Given the description of an element on the screen output the (x, y) to click on. 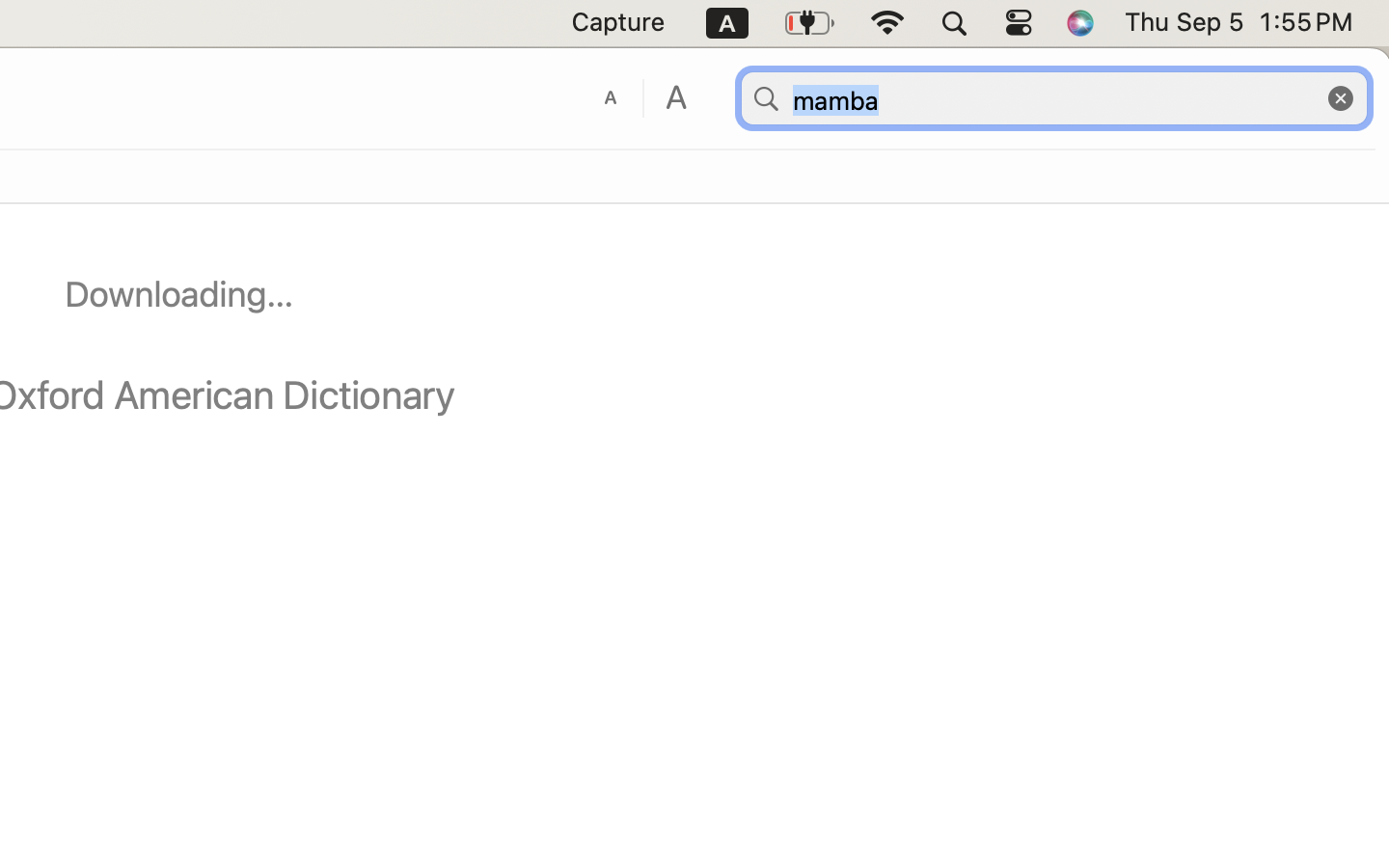
Downloading… Element type: AXStaticText (179, 293)
mamba Element type: AXTextField (1053, 99)
